Given the description of an element on the screen output the (x, y) to click on. 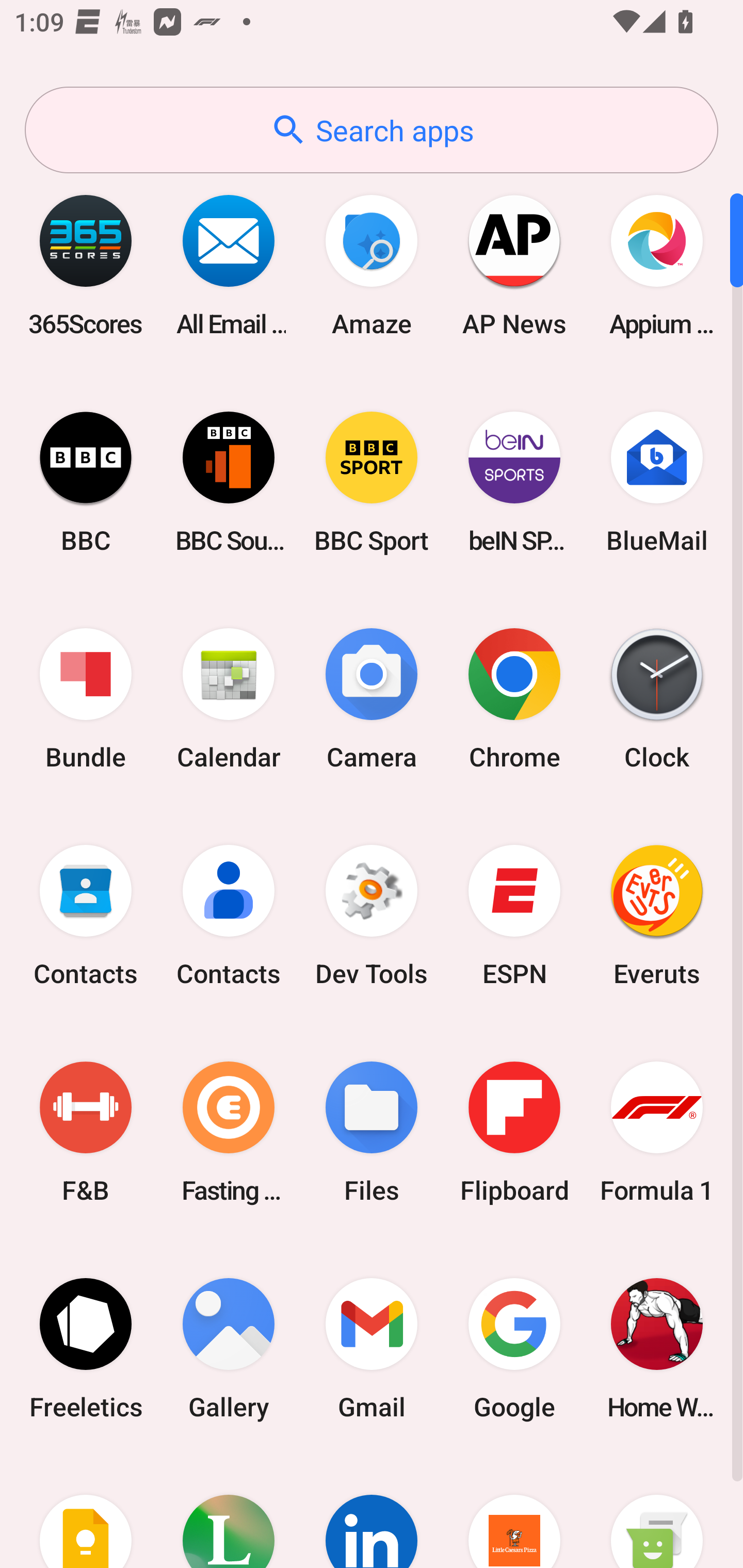
  Search apps (371, 130)
365Scores (85, 264)
All Email Connect (228, 264)
Amaze (371, 264)
AP News (514, 264)
Appium Settings (656, 264)
BBC (85, 482)
BBC Sounds (228, 482)
BBC Sport (371, 482)
beIN SPORTS (514, 482)
BlueMail (656, 482)
Bundle (85, 699)
Calendar (228, 699)
Camera (371, 699)
Chrome (514, 699)
Clock (656, 699)
Contacts (85, 915)
Contacts (228, 915)
Dev Tools (371, 915)
ESPN (514, 915)
Everuts (656, 915)
F&B (85, 1131)
Fasting Coach (228, 1131)
Files (371, 1131)
Flipboard (514, 1131)
Formula 1 (656, 1131)
Freeletics (85, 1348)
Gallery (228, 1348)
Gmail (371, 1348)
Google (514, 1348)
Home Workout (656, 1348)
Keep Notes (85, 1512)
Lifesum (228, 1512)
LinkedIn (371, 1512)
Little Caesars Pizza (514, 1512)
Messaging (656, 1512)
